Given the description of an element on the screen output the (x, y) to click on. 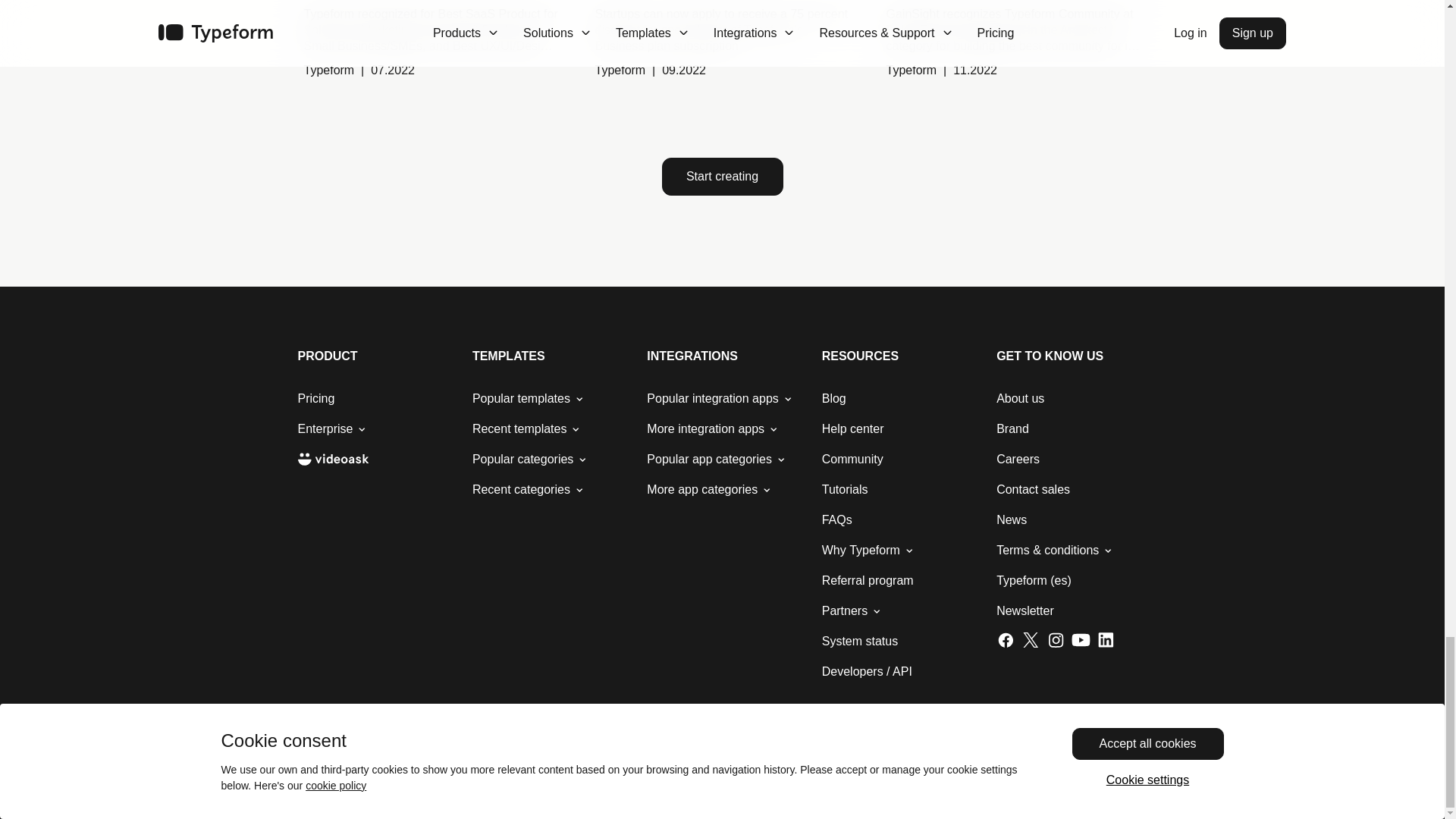
VideoAsk (332, 459)
